Given the description of an element on the screen output the (x, y) to click on. 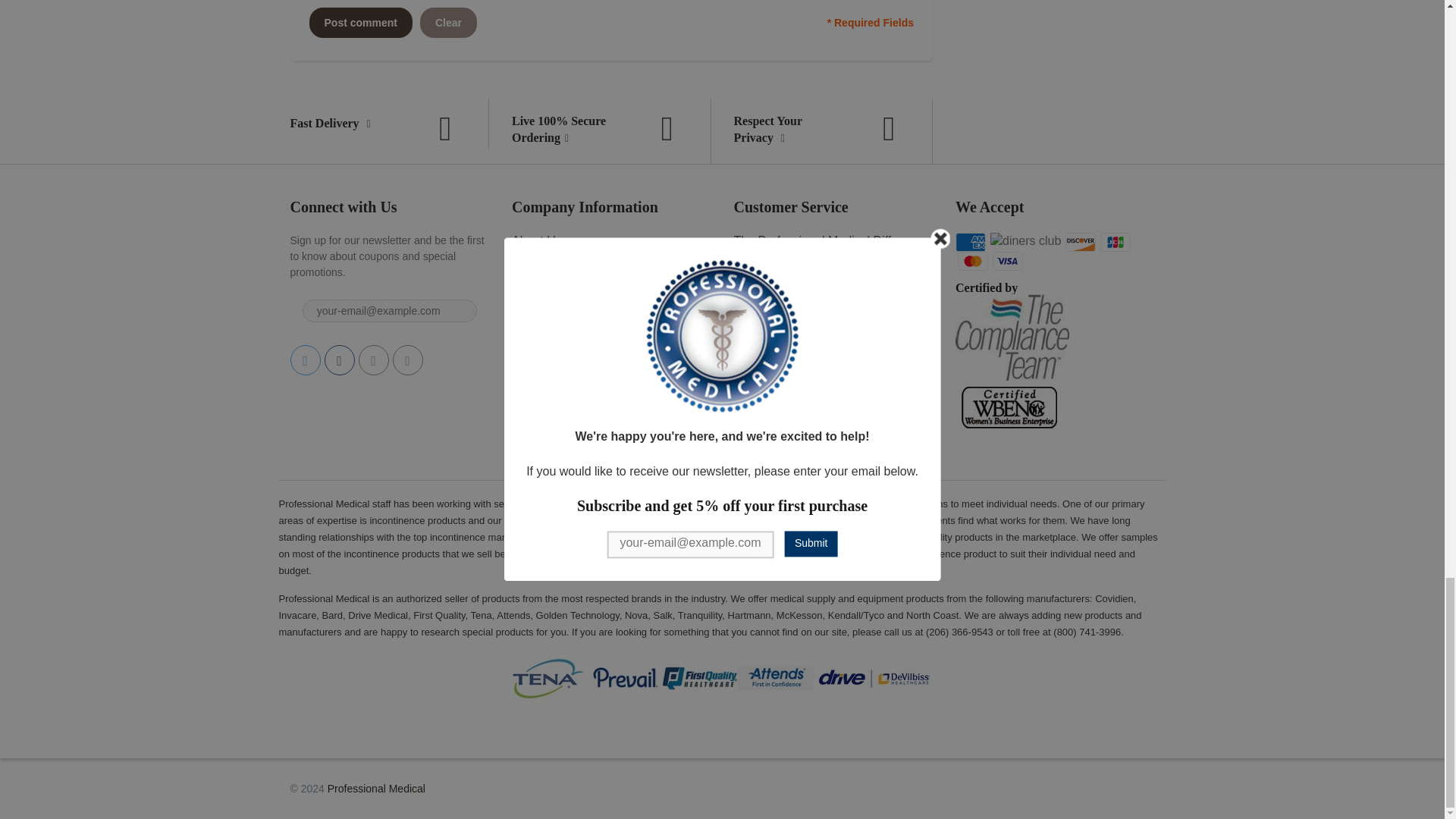
Clear (448, 22)
Post comment (360, 22)
